Given the description of an element on the screen output the (x, y) to click on. 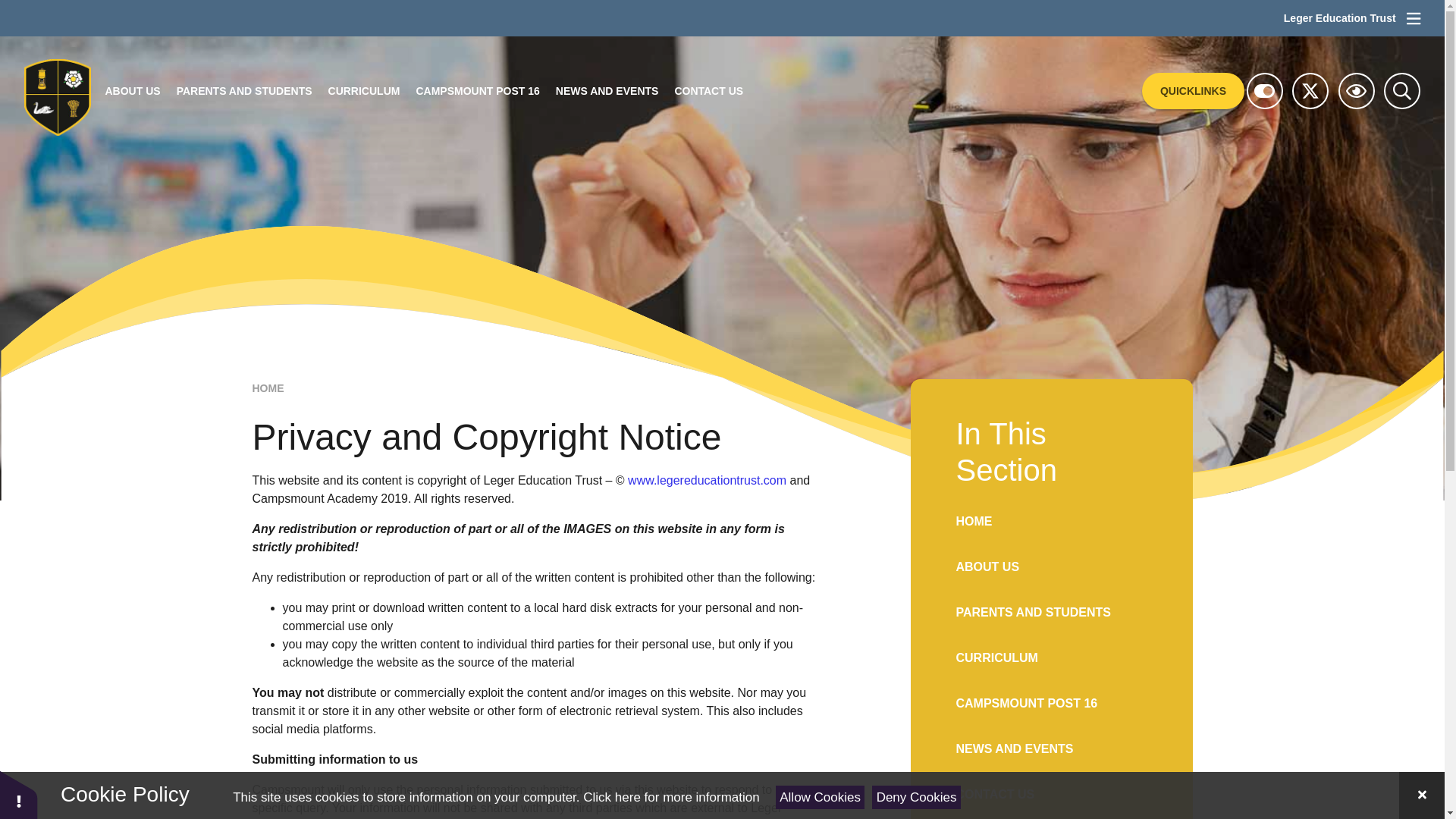
ABOUT US (132, 90)
Allow Cookies (820, 797)
See cookie policy (670, 797)
Deny Cookies (915, 797)
